Given the description of an element on the screen output the (x, y) to click on. 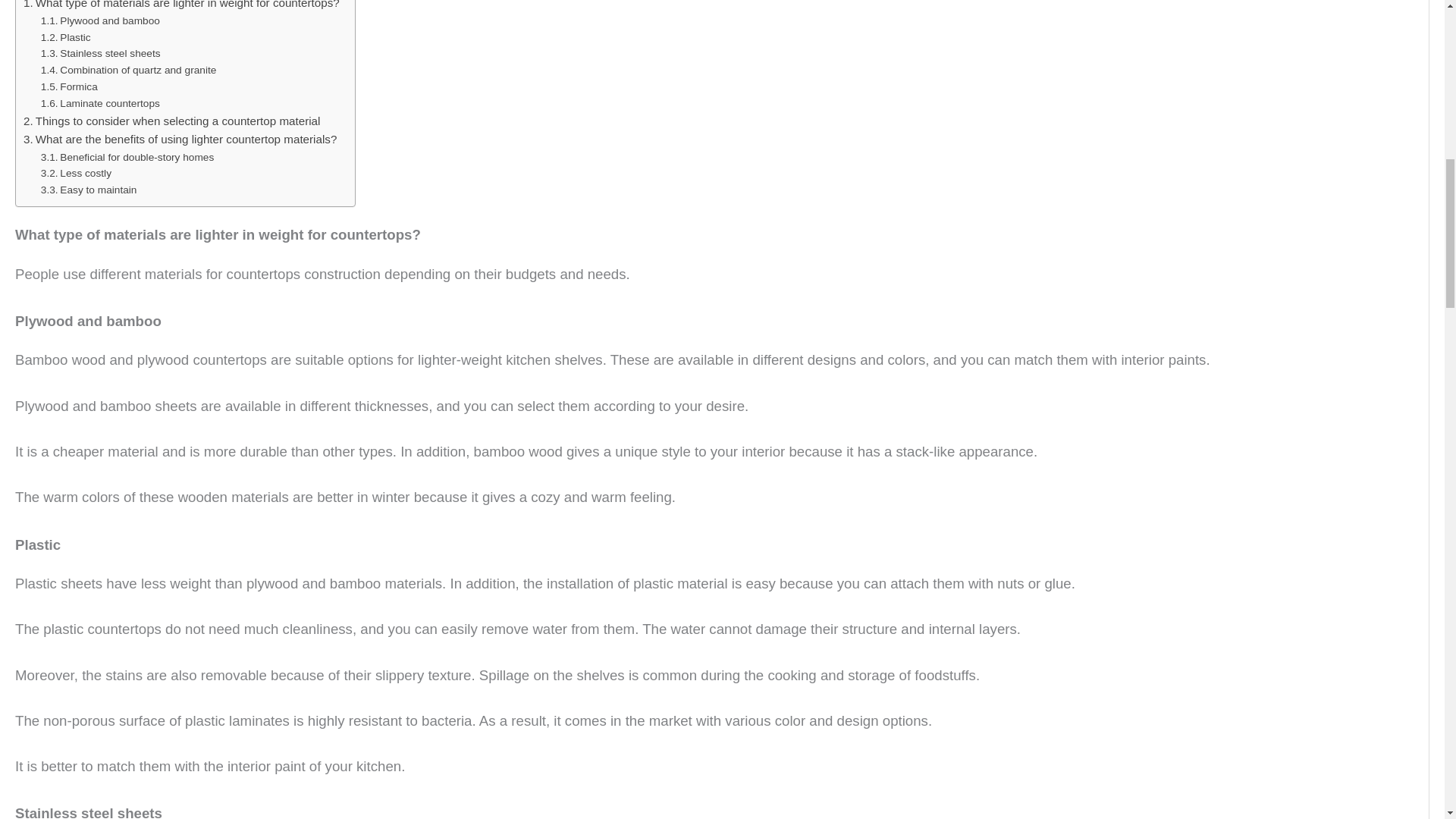
Easy to maintain (88, 190)
Stainless steel sheets (100, 53)
Things to consider when selecting a countertop material (171, 121)
Easy to maintain (88, 190)
Plastic (65, 37)
Combination of quartz and granite (128, 70)
Things to consider when selecting a countertop material (171, 121)
Plywood and bamboo (100, 21)
Beneficial for double-story homes (127, 157)
Less costly (76, 173)
